Given the description of an element on the screen output the (x, y) to click on. 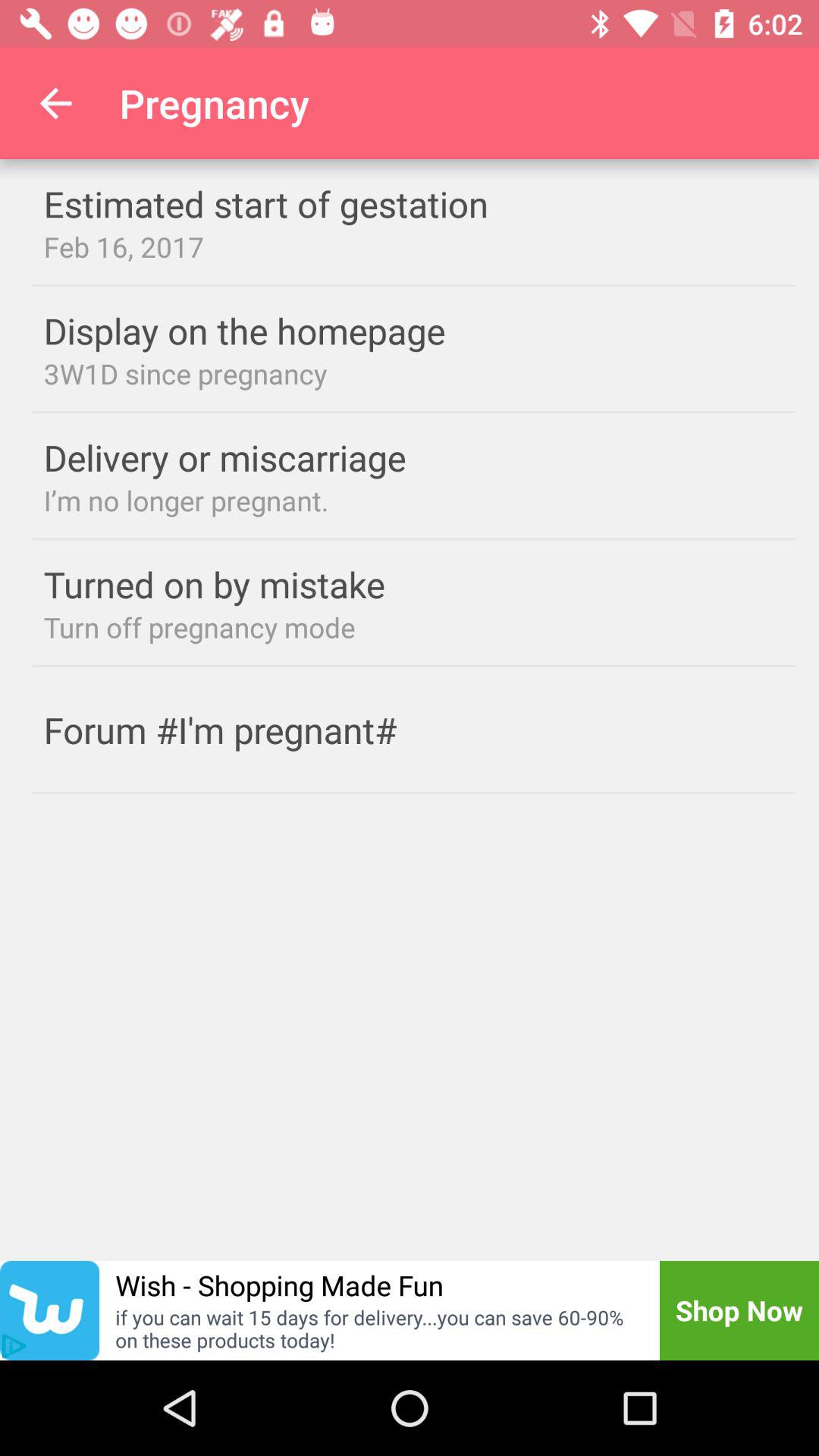
open feb 16, 2017 (413, 246)
